Given the description of an element on the screen output the (x, y) to click on. 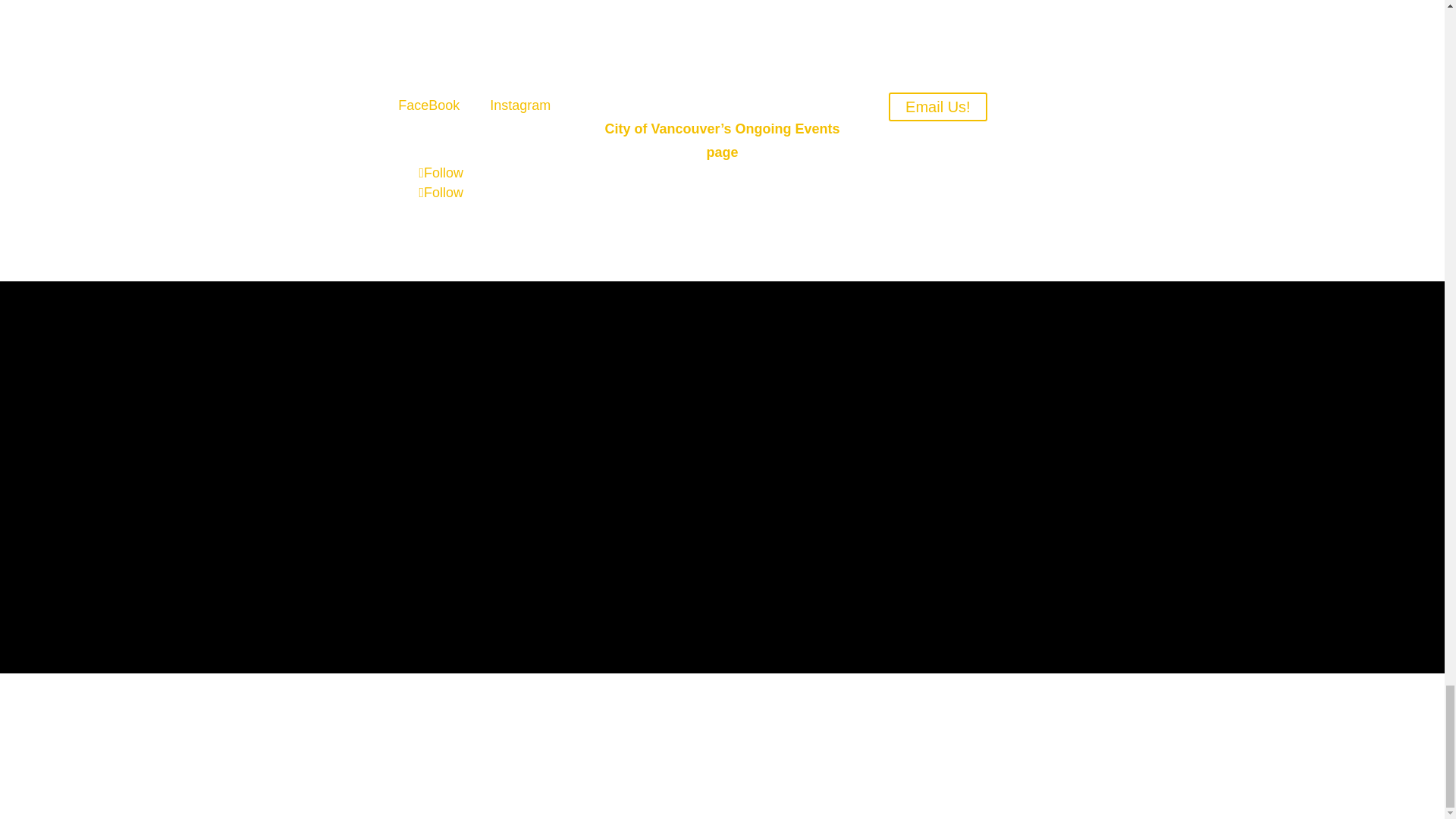
FaceBook (428, 105)
Email Us! (937, 106)
Follow (441, 172)
Follow on Instagram (441, 192)
Follow (441, 192)
Instagram (519, 105)
Follow on Facebook (441, 172)
